Given the description of an element on the screen output the (x, y) to click on. 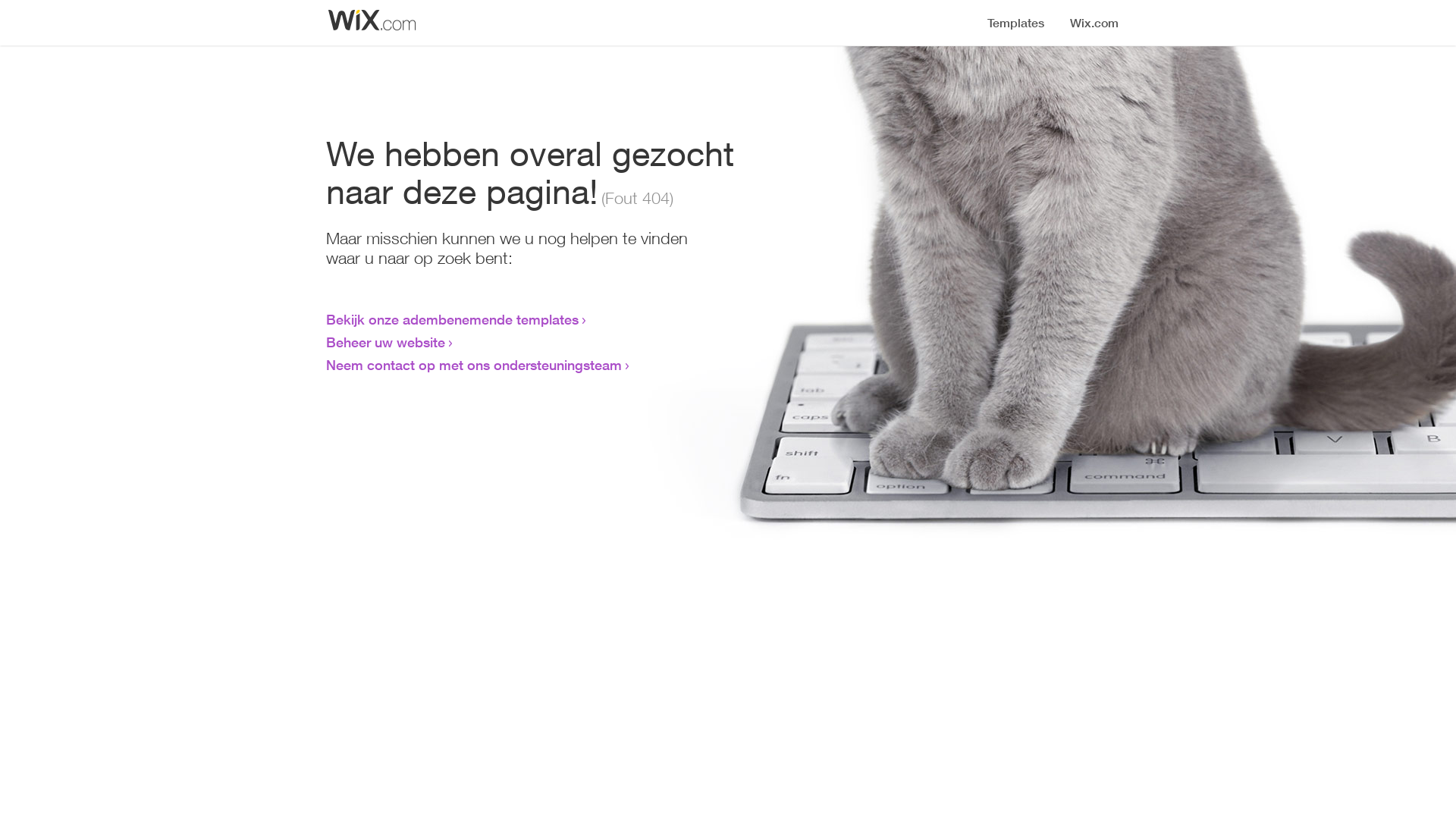
Beheer uw website Element type: text (385, 341)
Bekijk onze adembenemende templates Element type: text (452, 318)
Neem contact op met ons ondersteuningsteam Element type: text (473, 364)
